Given the description of an element on the screen output the (x, y) to click on. 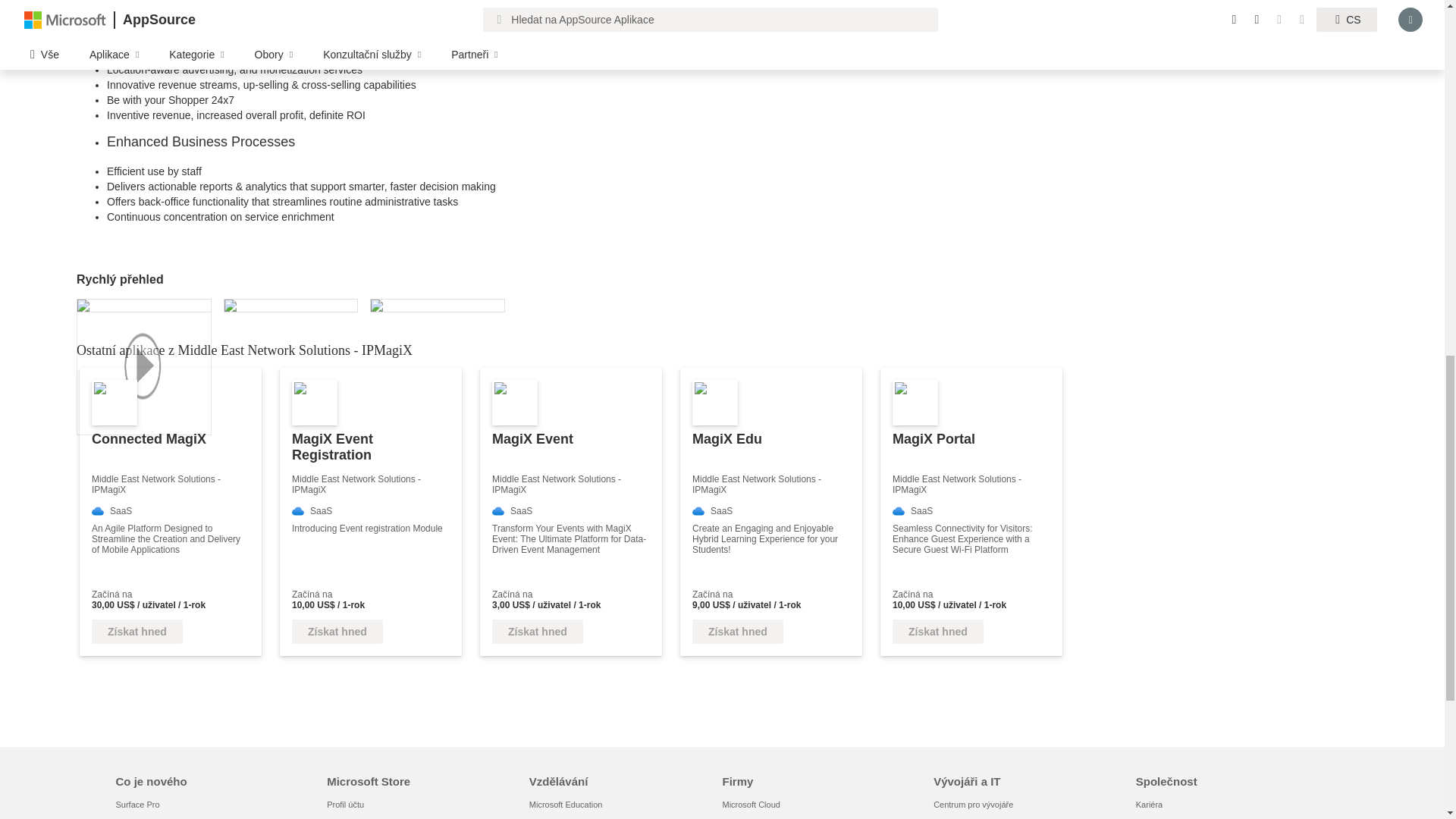
Surface Pro (136, 804)
